Given the description of an element on the screen output the (x, y) to click on. 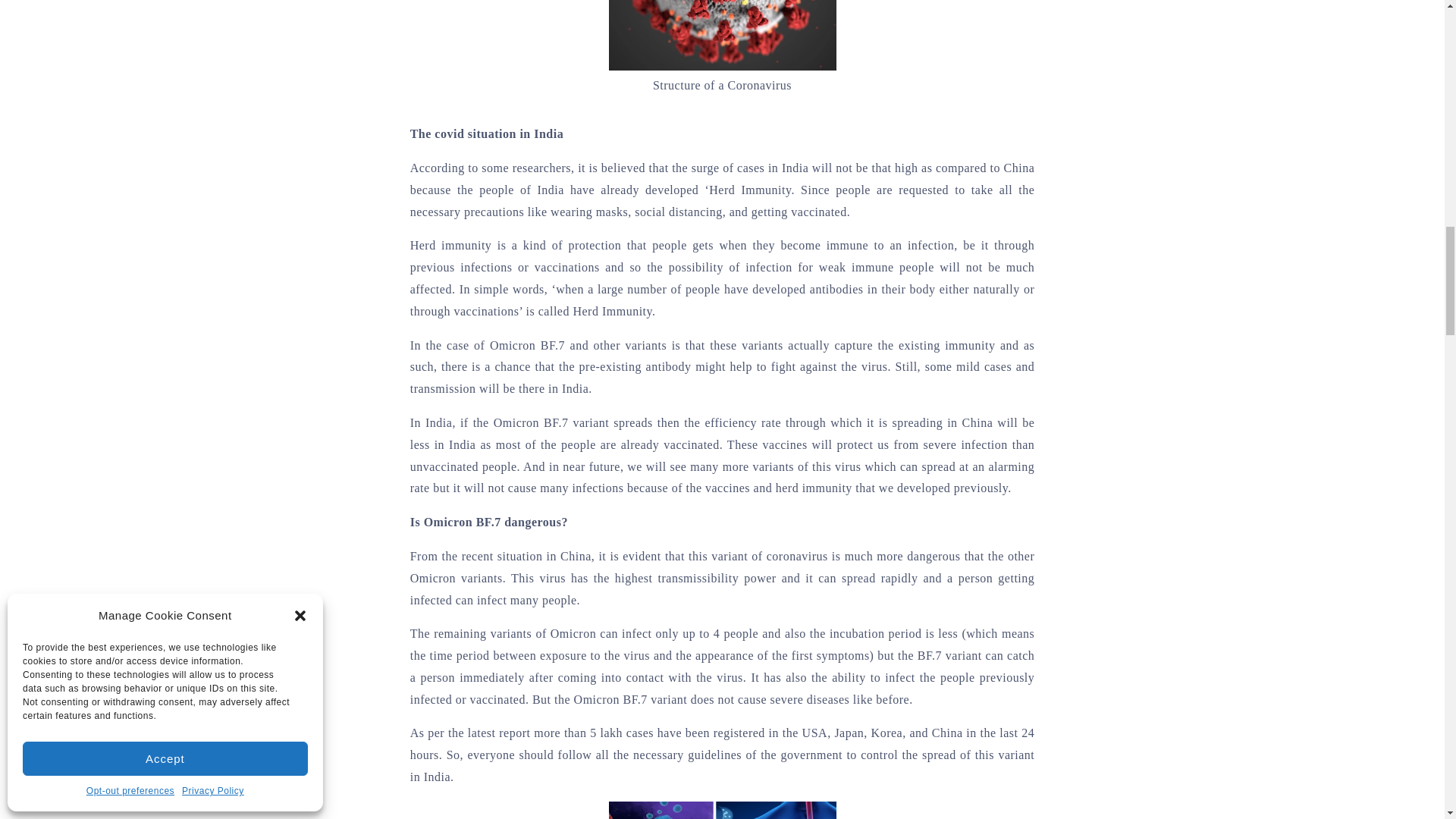
Omicron BF.7- Erakina 1 (721, 35)
Omicron BF.7- Erakina 2 (721, 809)
